Given the description of an element on the screen output the (x, y) to click on. 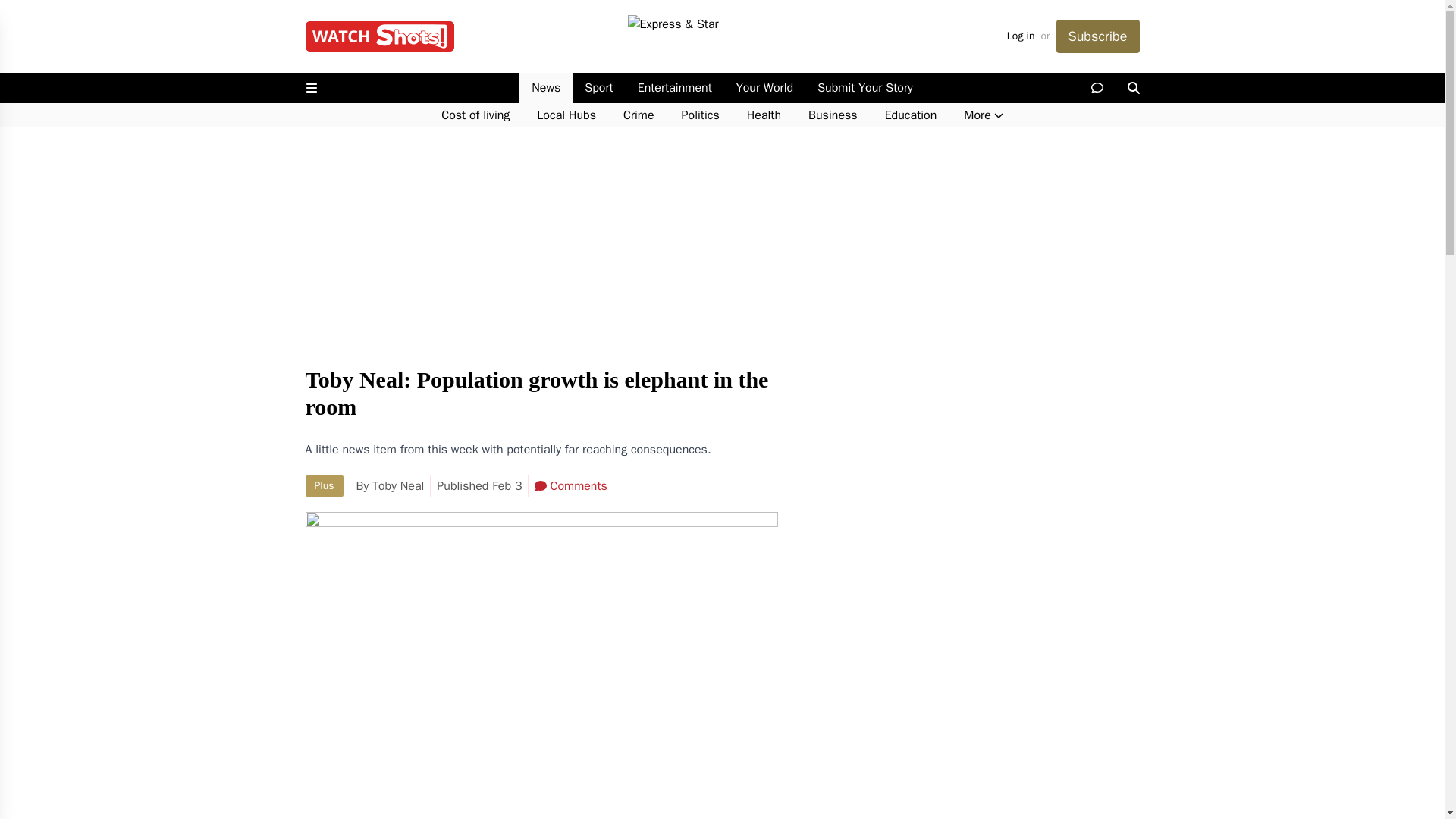
Crime (638, 115)
Entertainment (674, 87)
Subscribe (1096, 36)
More (983, 115)
Cost of living (475, 115)
Sport (598, 87)
Submit Your Story (864, 87)
Log in (1021, 36)
News (545, 87)
Politics (700, 115)
Education (910, 115)
Your World (764, 87)
Health (764, 115)
Business (832, 115)
Local Hubs (566, 115)
